Given the description of an element on the screen output the (x, y) to click on. 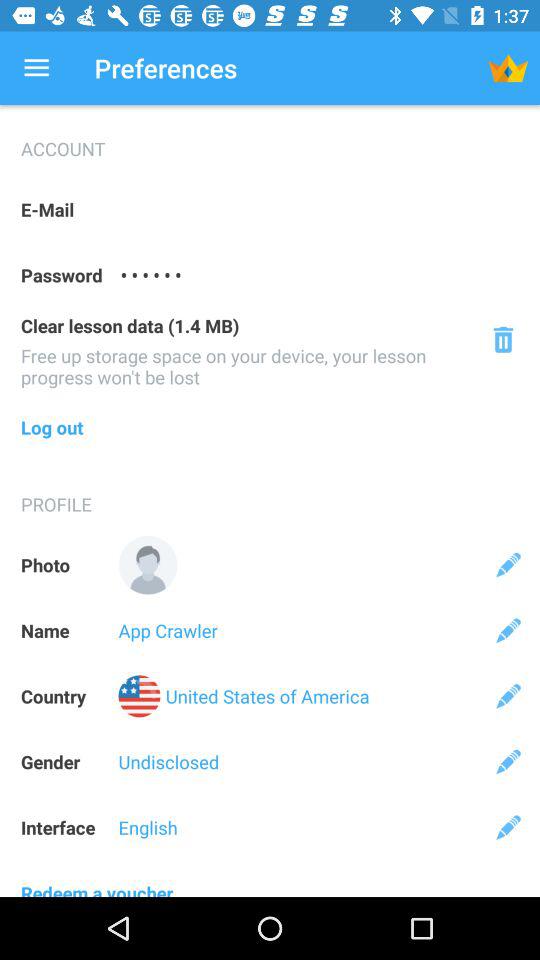
select the item to the right of the preferences item (508, 67)
